Given the description of an element on the screen output the (x, y) to click on. 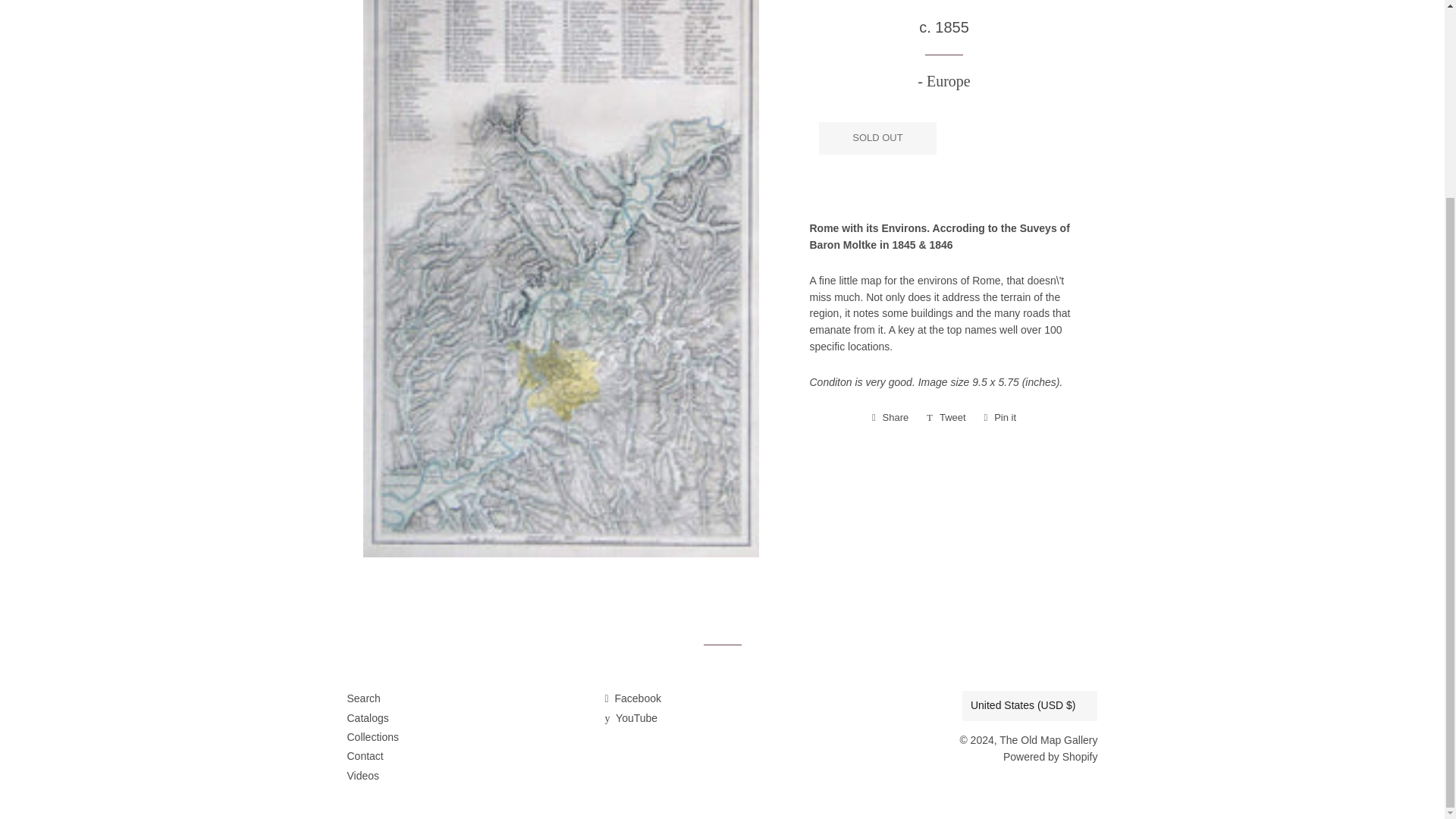
The Old Map Gallery on Facebook (632, 698)
The Old Map Gallery on YouTube (631, 717)
Pin on Pinterest (1000, 417)
Tweet on Twitter (946, 417)
Share on Facebook (889, 417)
